Given the description of an element on the screen output the (x, y) to click on. 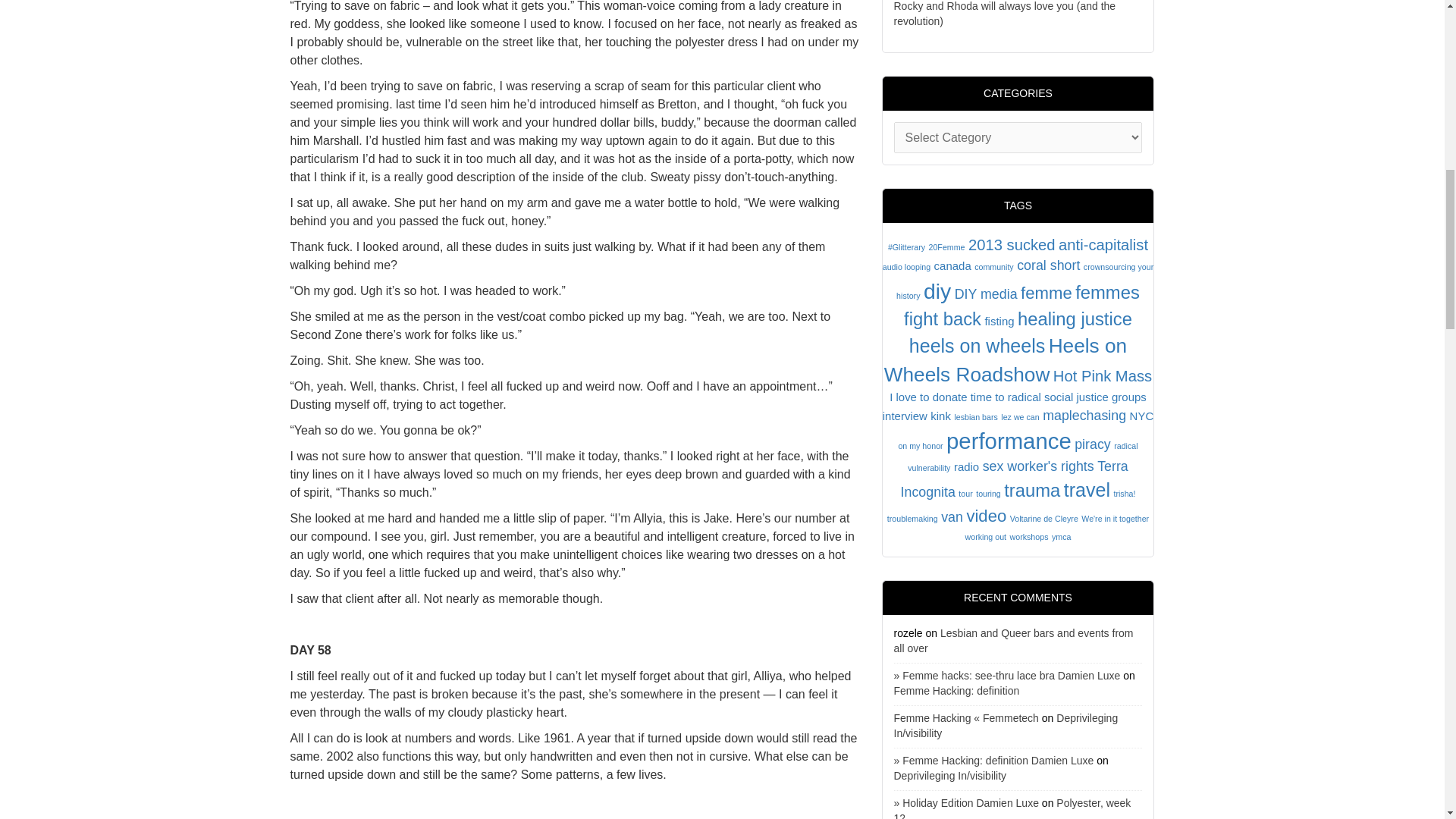
crownsourcing your history (1024, 280)
canada (952, 265)
diy (936, 291)
community (993, 266)
femme (1045, 292)
audio looping (906, 266)
coral short (1048, 264)
DIY media (986, 294)
20Femme (946, 246)
anti-capitalist (1103, 244)
2013 sucked (1011, 244)
femmes fight back (1022, 305)
healing justice (1074, 318)
fisting (998, 320)
